Given the description of an element on the screen output the (x, y) to click on. 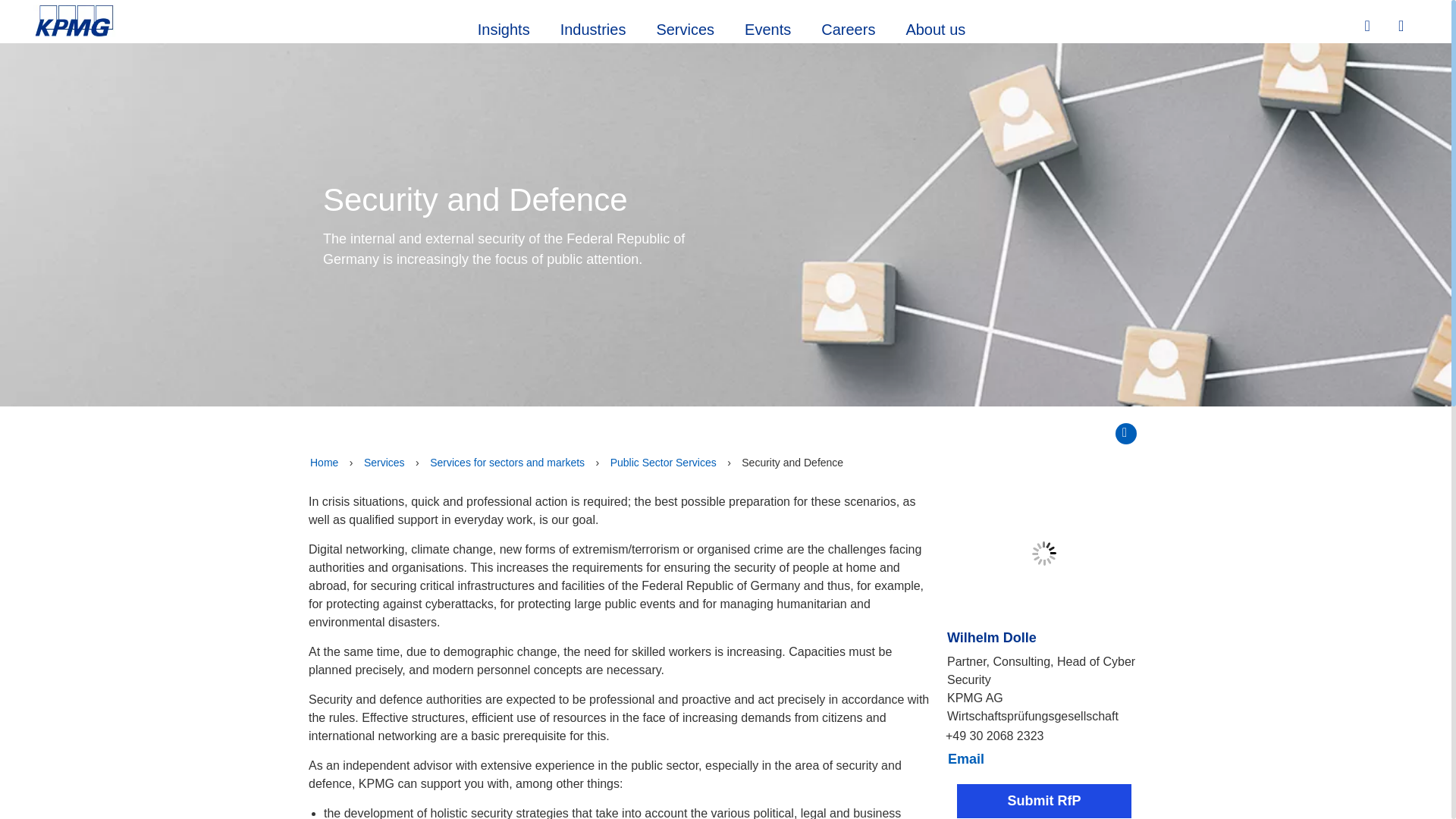
Services (684, 27)
Careers (847, 27)
Site Selector (964, 759)
Search (1402, 26)
About us (1369, 26)
Industries (934, 27)
Insights (593, 27)
Home (503, 27)
Services for sectors and markets (323, 462)
Public Sector Services (507, 462)
Go to bottom of page (662, 462)
Events (1126, 433)
Services (767, 27)
Submit RfP (384, 462)
